Given the description of an element on the screen output the (x, y) to click on. 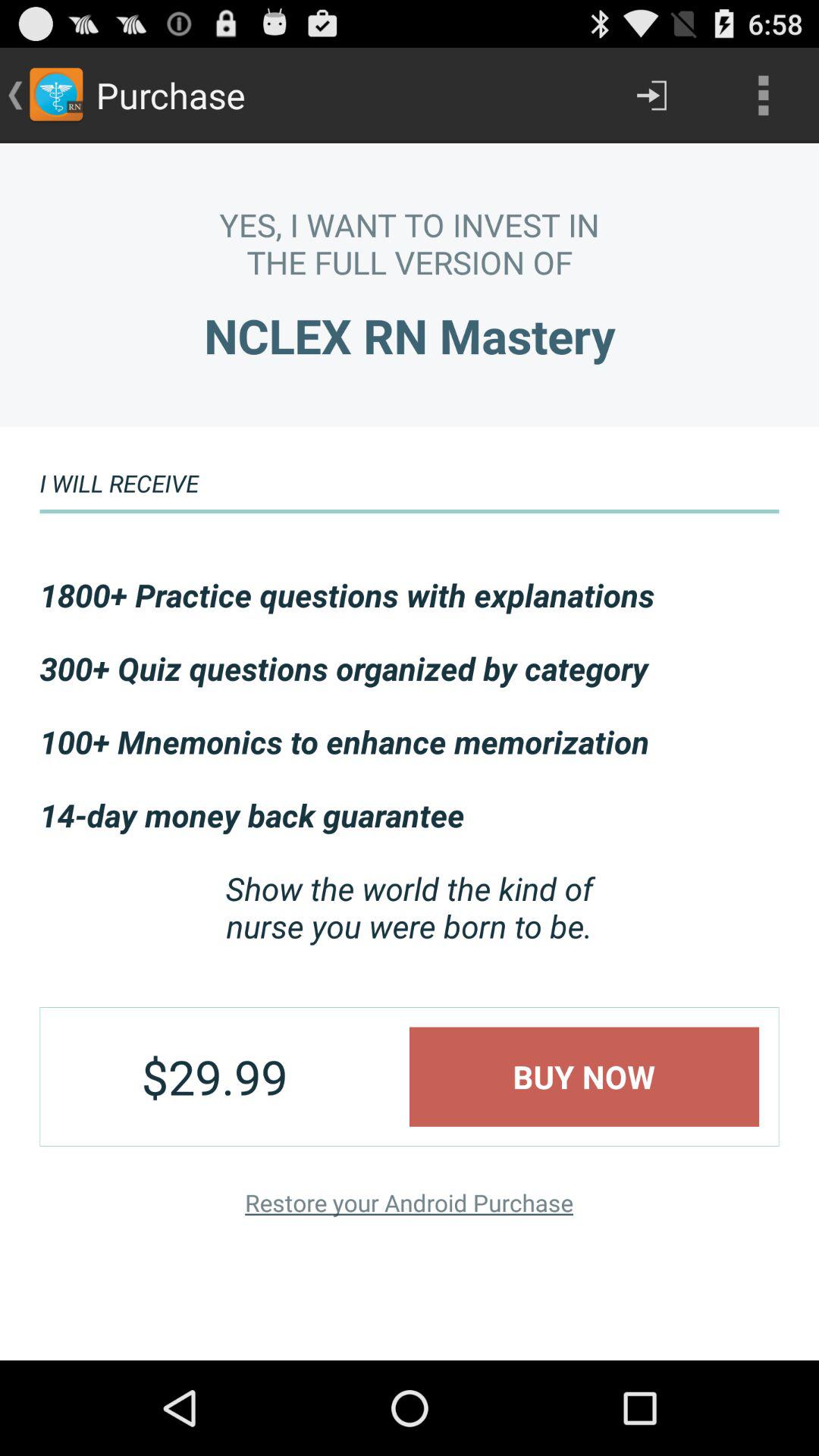
select restore your android (409, 1202)
